Given the description of an element on the screen output the (x, y) to click on. 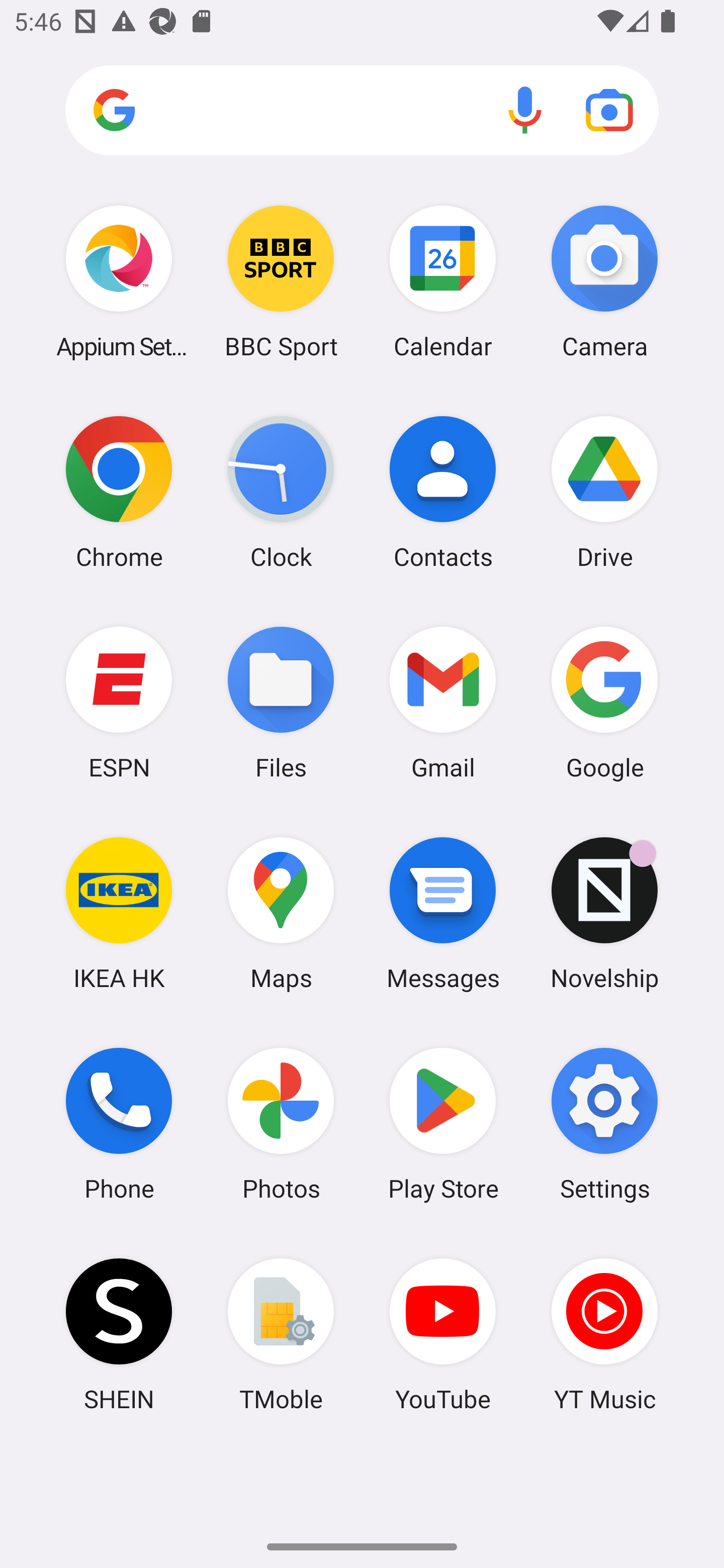
Search apps, web and more (361, 110)
Voice search (524, 109)
Google Lens (608, 109)
Appium Settings (118, 281)
BBC Sport (280, 281)
Calendar (443, 281)
Camera (604, 281)
Chrome (118, 492)
Clock (280, 492)
Contacts (443, 492)
Drive (604, 492)
ESPN (118, 702)
Files (280, 702)
Gmail (443, 702)
Google (604, 702)
IKEA HK (118, 913)
Maps (280, 913)
Messages (443, 913)
Novelship Novelship has 1 notification (604, 913)
Phone (118, 1124)
Photos (280, 1124)
Play Store (443, 1124)
Settings (604, 1124)
SHEIN (118, 1334)
TMoble (280, 1334)
YouTube (443, 1334)
YT Music (604, 1334)
